Given the description of an element on the screen output the (x, y) to click on. 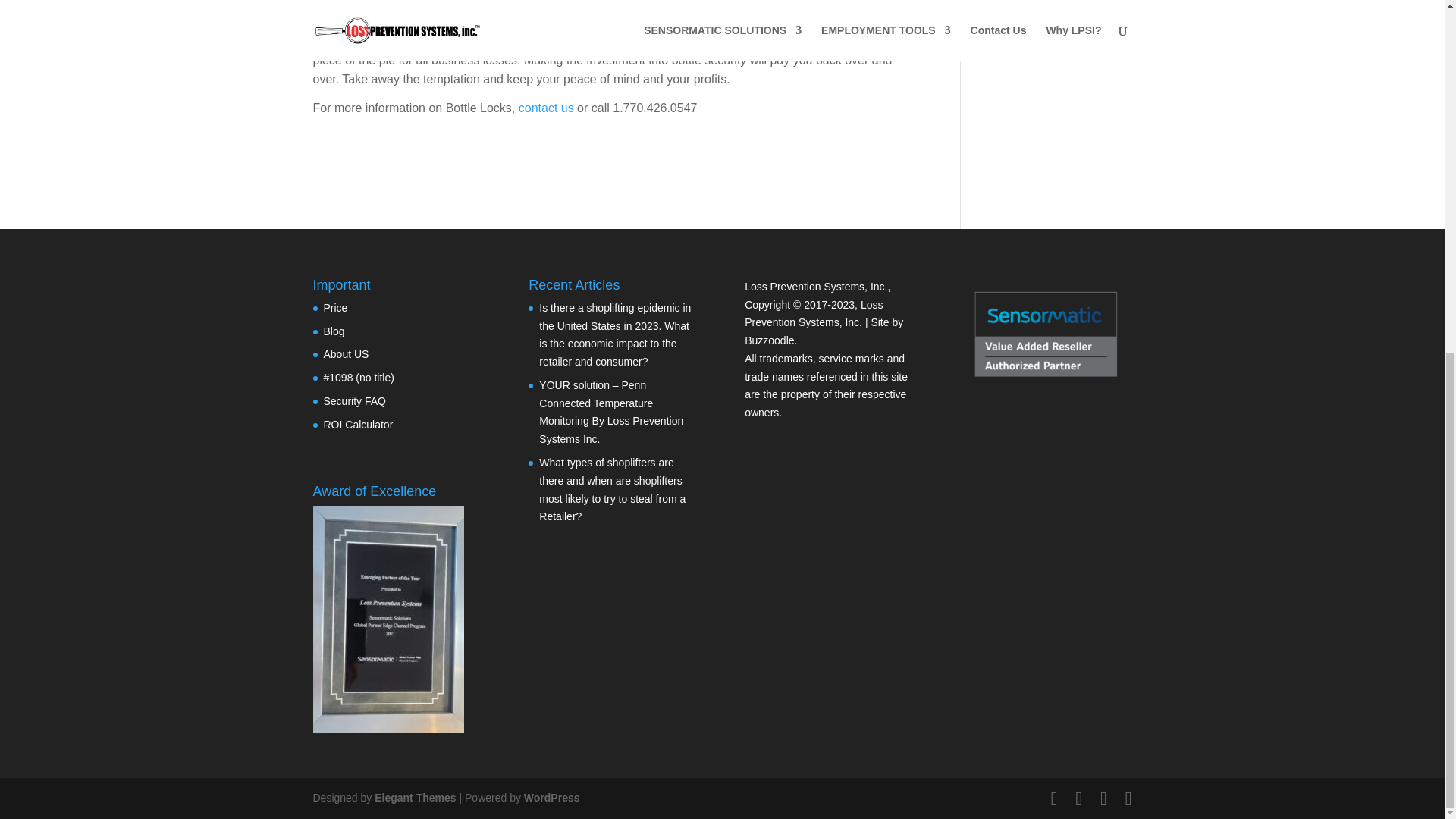
Premium WordPress Themes (414, 797)
contact us (545, 107)
Blog (333, 330)
Price (335, 307)
